Given the description of an element on the screen output the (x, y) to click on. 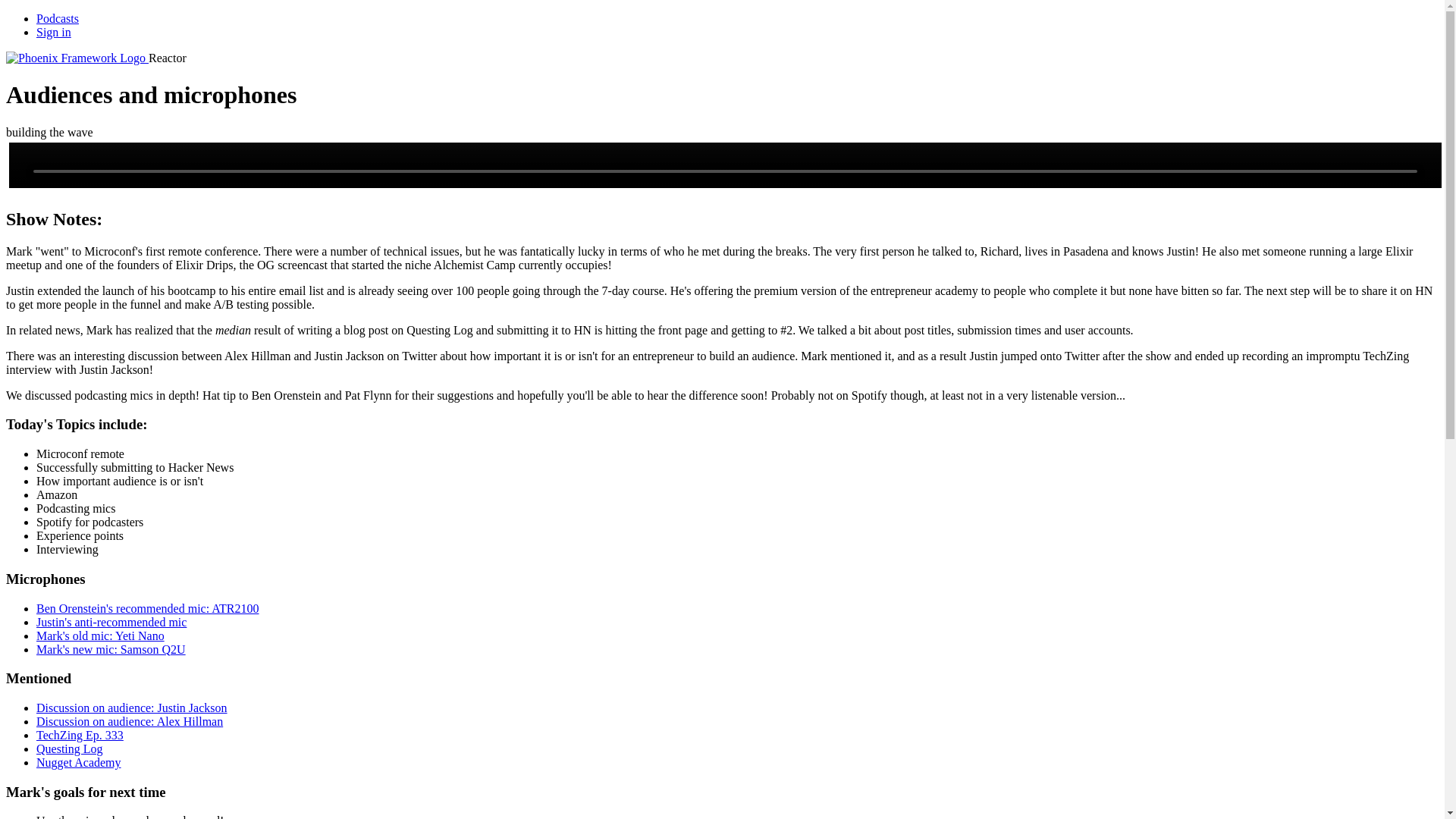
Podcasts (57, 18)
TechZing Ep. 333 (79, 735)
Discussion on audience: Justin Jackson (131, 707)
Justin's anti-recommended mic (111, 621)
Mark's old mic: Yeti Nano (100, 635)
Nugget Academy (78, 762)
Sign in (53, 31)
Mark's new mic: Samson Q2U (111, 649)
Ben Orenstein's recommended mic: ATR2100 (147, 608)
Questing Log (69, 748)
